Given the description of an element on the screen output the (x, y) to click on. 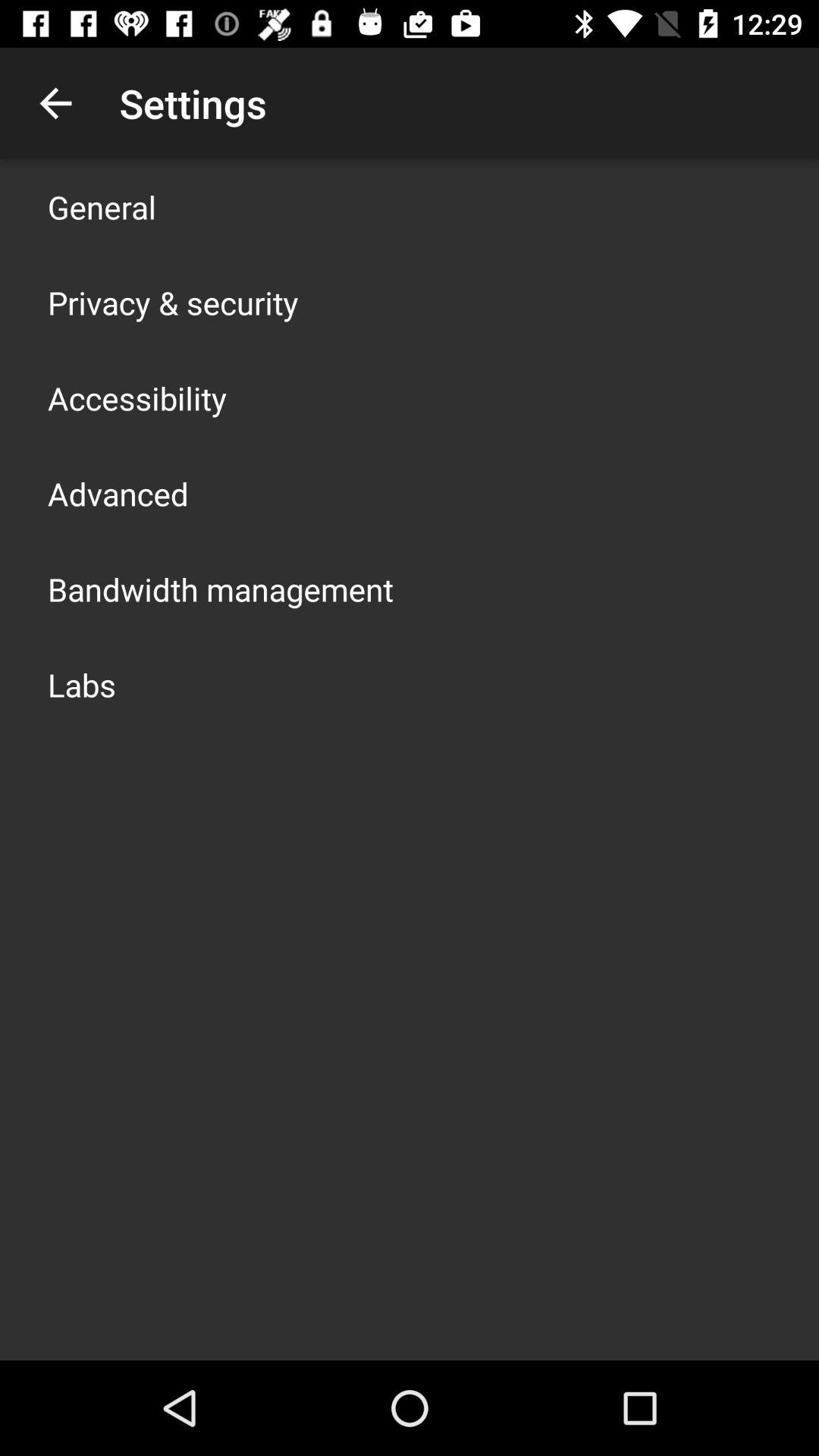
choose icon to the left of settings icon (55, 103)
